Given the description of an element on the screen output the (x, y) to click on. 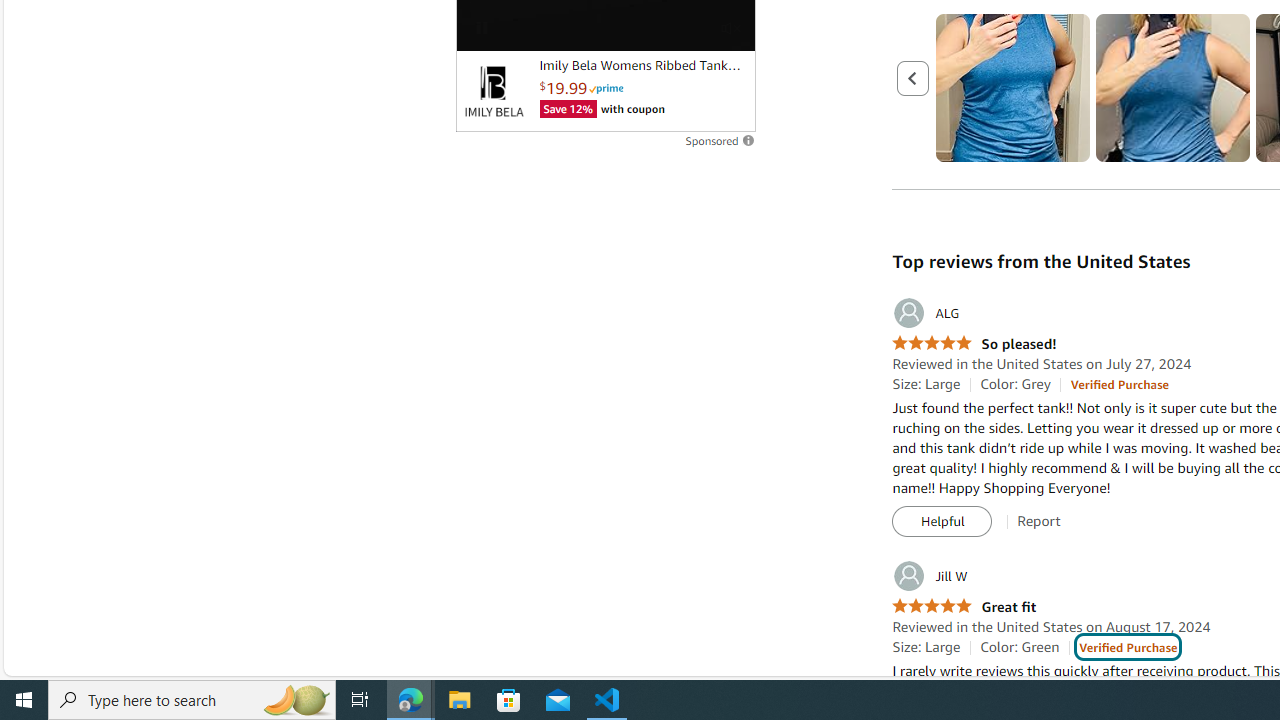
Report (1039, 521)
Unmute (729, 27)
Prime (605, 88)
5.0 out of 5 stars Great fit (964, 607)
Customer Image (1172, 87)
Verified Purchase (1128, 646)
5.0 out of 5 stars So pleased! (974, 344)
Pause (481, 27)
ALG (926, 313)
Helpful (942, 521)
Previous page (913, 77)
Customer Image (1172, 87)
Jill W (929, 576)
Logo (493, 91)
Class: a-carousel-card (1173, 88)
